Given the description of an element on the screen output the (x, y) to click on. 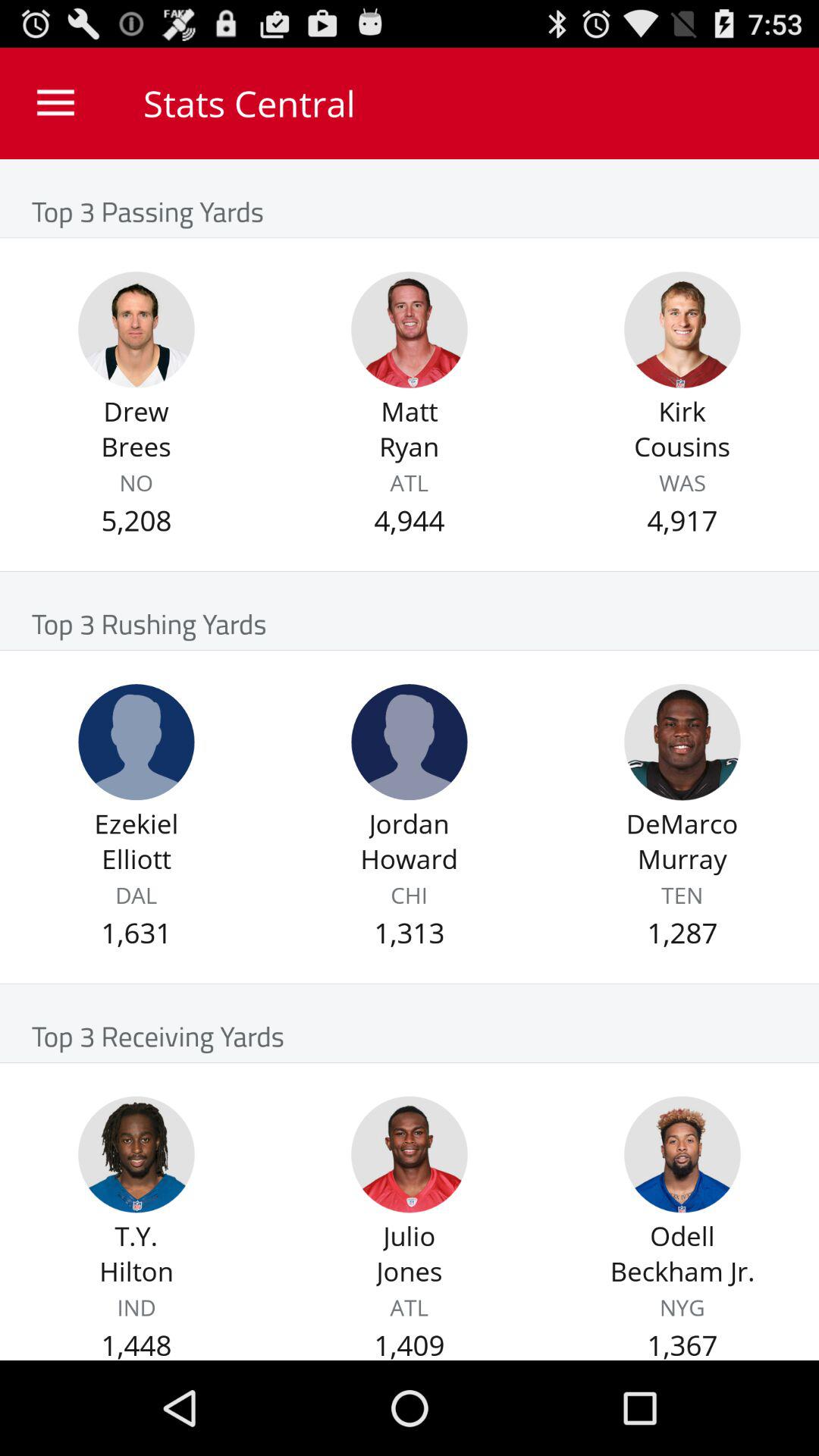
goes to stats (409, 329)
